Given the description of an element on the screen output the (x, y) to click on. 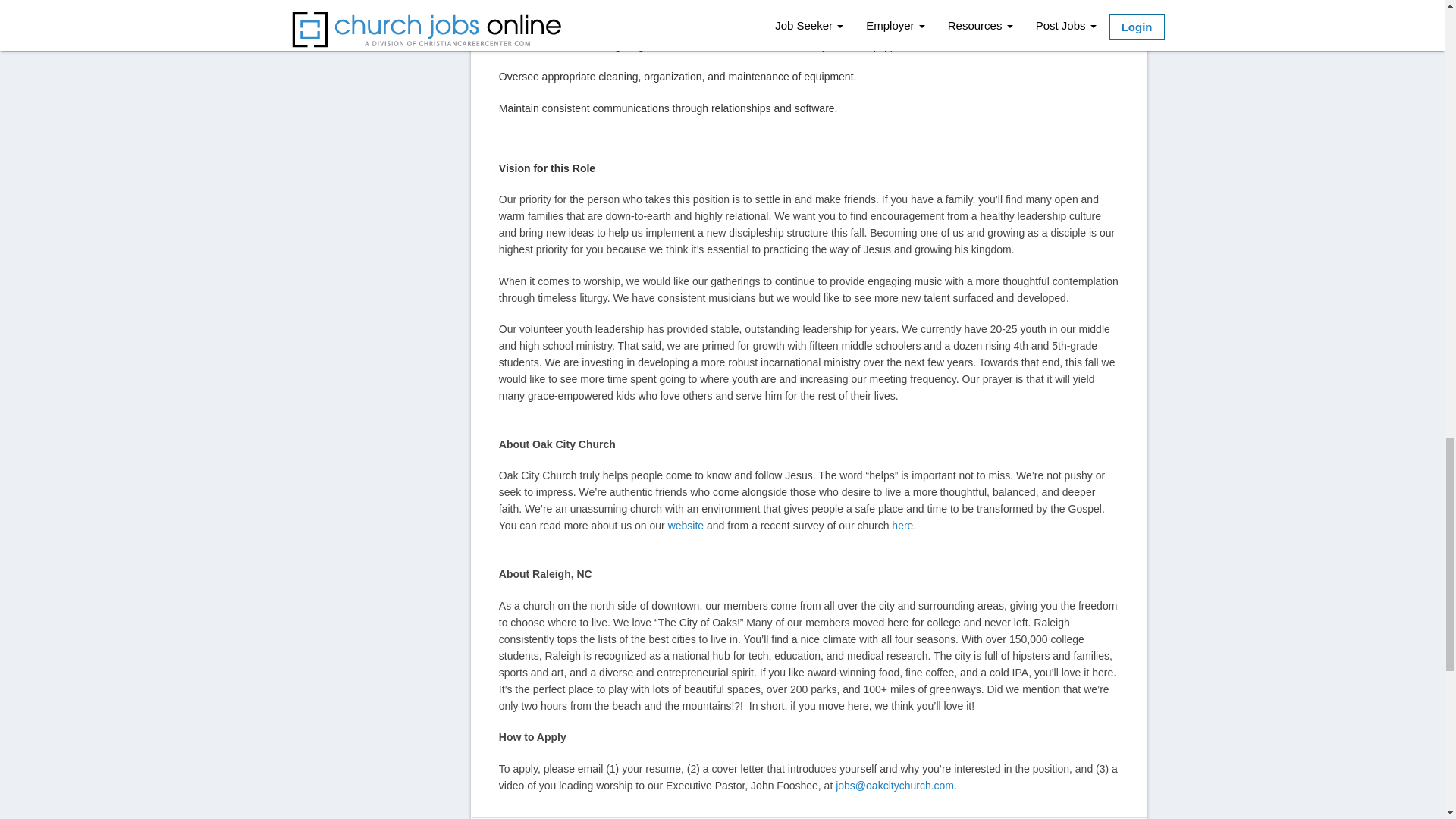
here (900, 525)
website (685, 525)
